Given the description of an element on the screen output the (x, y) to click on. 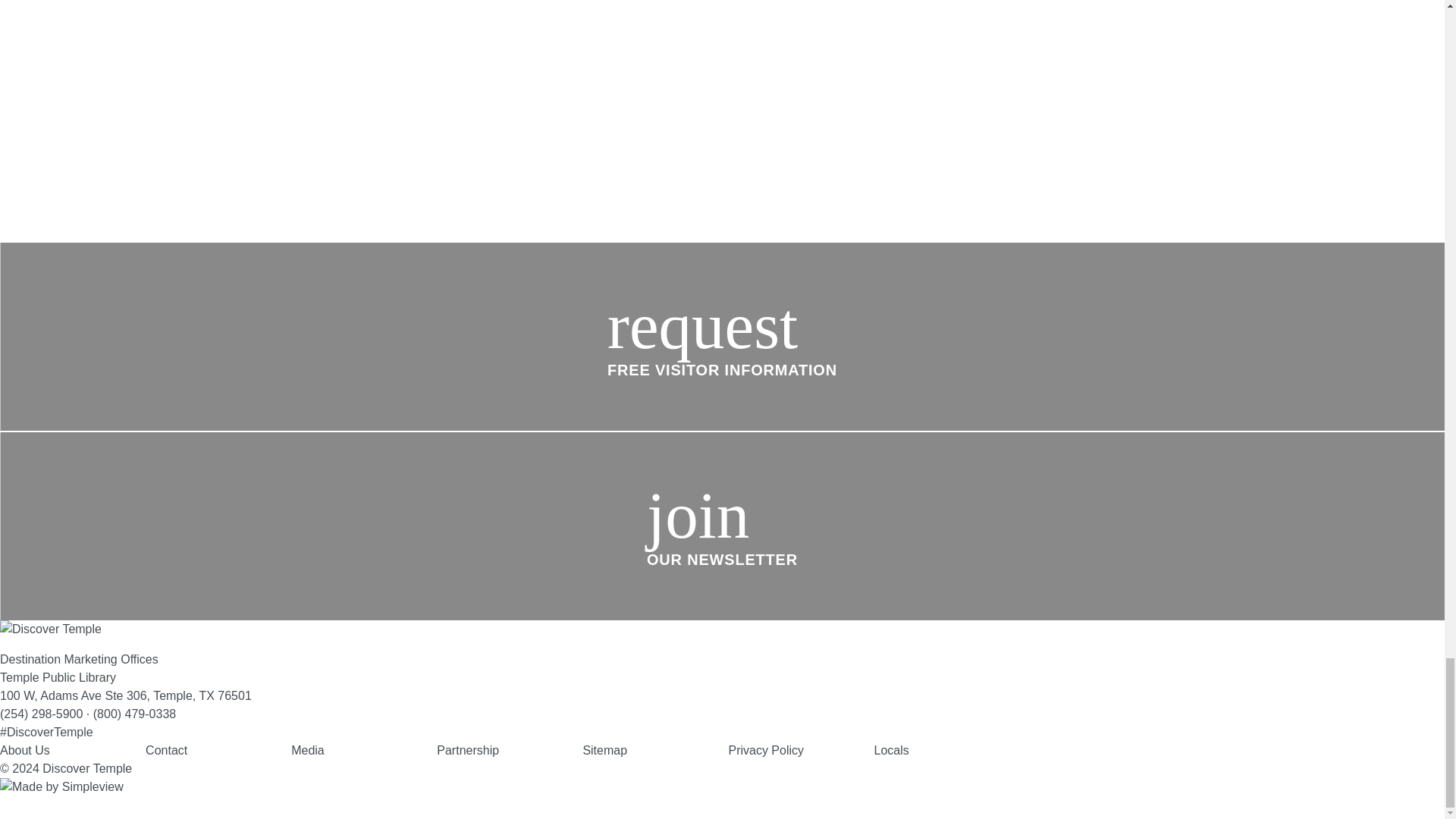
About Us (24, 749)
Contact (166, 749)
Privacy Policy (765, 749)
Sitemap (604, 749)
Partnership (467, 749)
Media (307, 749)
